Given the description of an element on the screen output the (x, y) to click on. 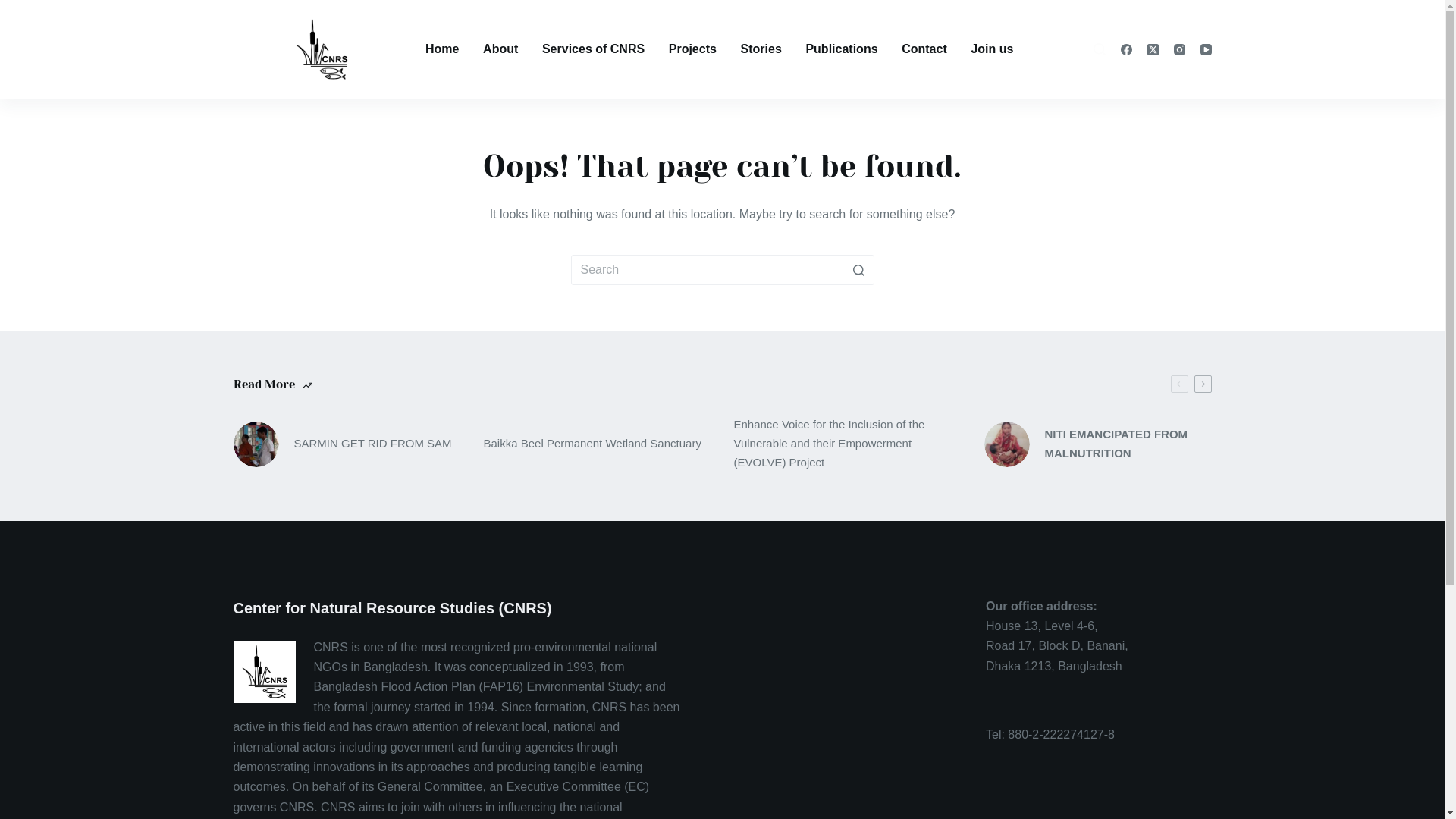
About Element type: text (500, 49)
Projects Element type: text (692, 49)
Home Element type: text (441, 49)
Search for... Element type: hover (721, 269)
NITI EMANCIPATED FROM MALNUTRITION Element type: text (1097, 443)
Stories Element type: text (760, 49)
Contact Element type: text (924, 49)
Skip to content Element type: text (15, 7)
Join us Element type: text (992, 49)
Publications Element type: text (841, 49)
Services of CNRS Element type: text (592, 49)
Baikka Beel Permanent Wetland Sanctuary Element type: text (597, 443)
SARMIN GET RID FROM SAM Element type: text (347, 443)
